Given the description of an element on the screen output the (x, y) to click on. 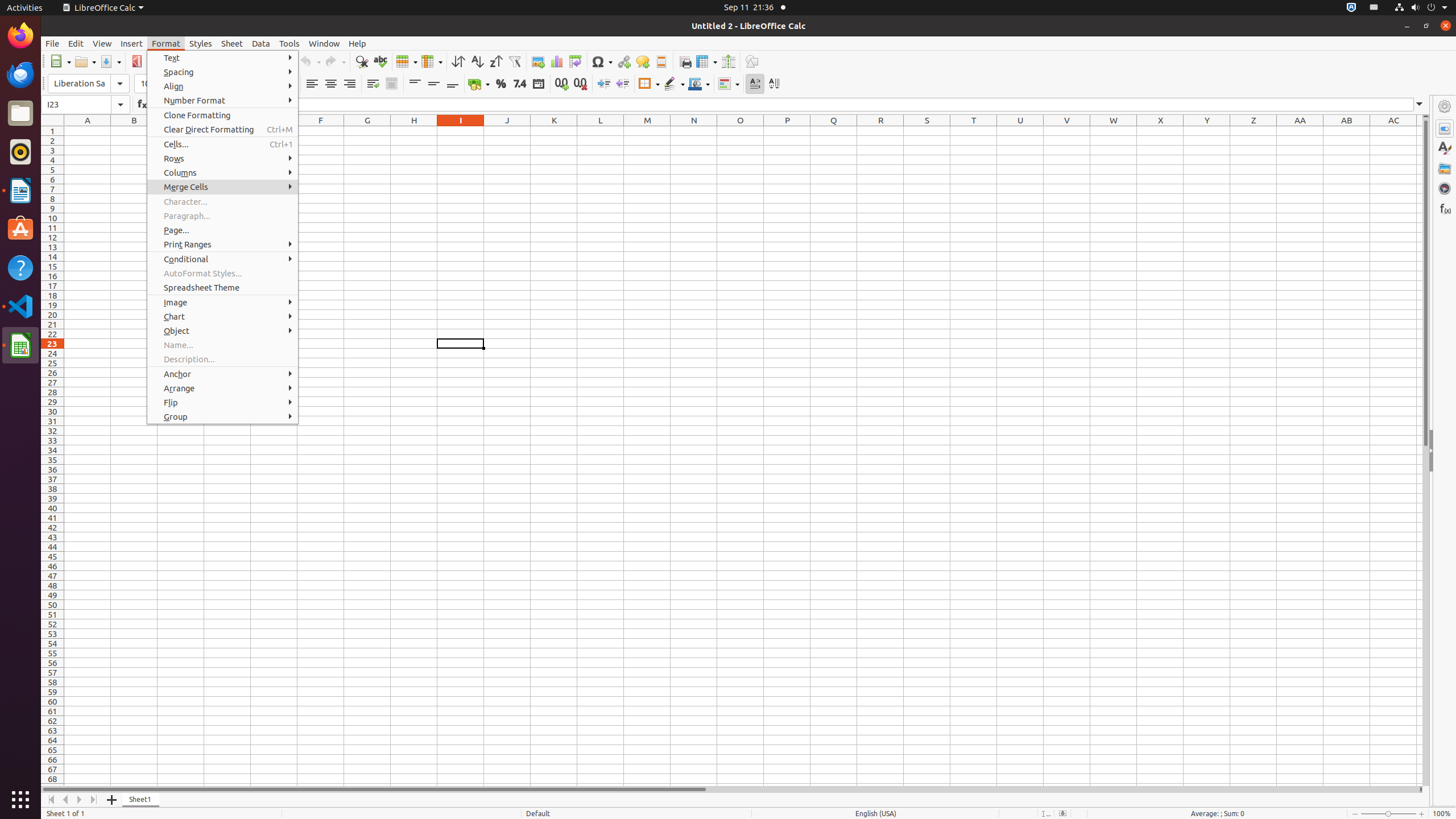
LibreOffice Calc Element type: menu (102, 7)
Column Element type: push-button (431, 61)
Sort Descending Element type: push-button (495, 61)
Split Cells Element type: menu-item (357, 215)
